Given the description of an element on the screen output the (x, y) to click on. 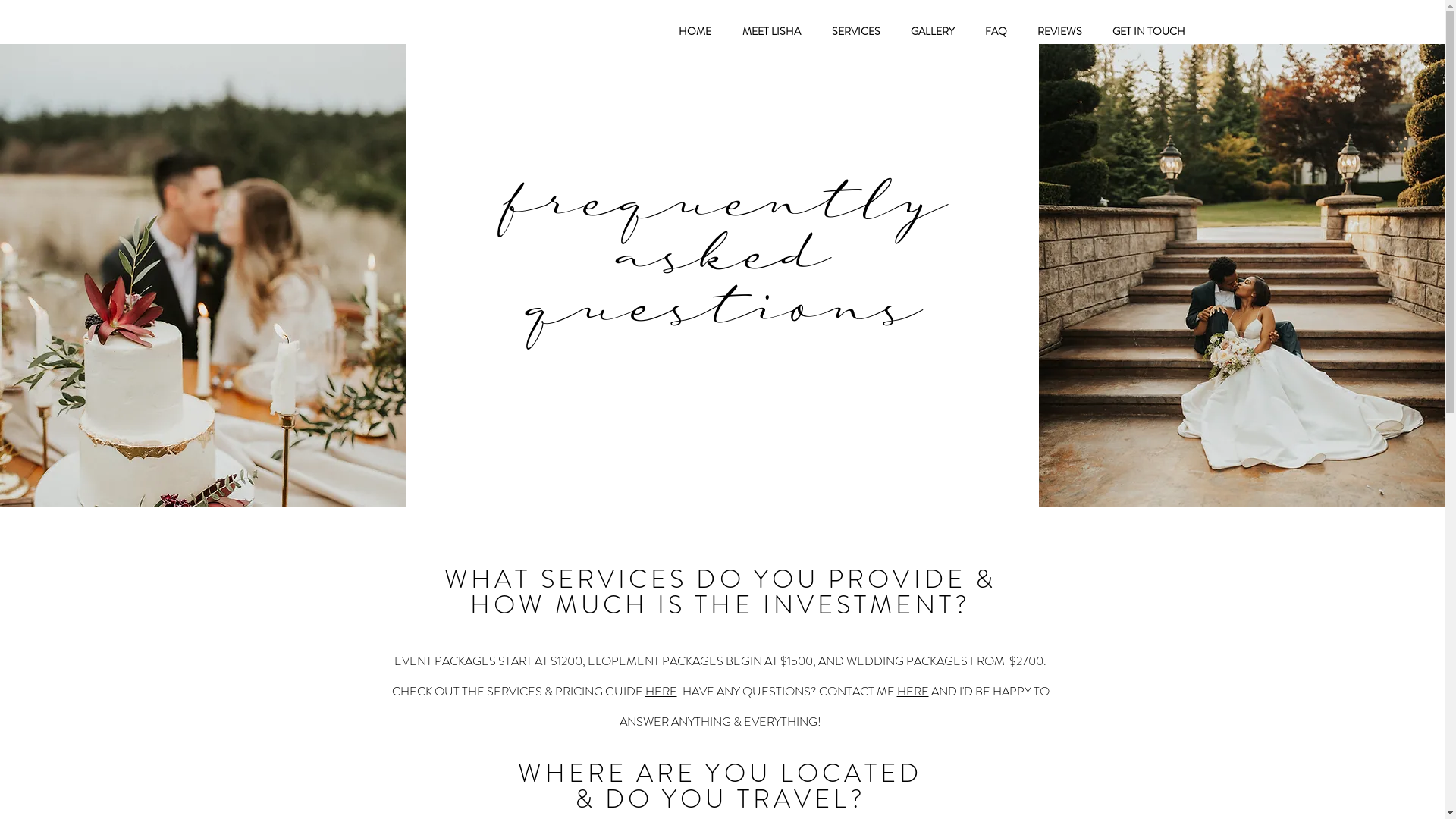
SERVICES Element type: text (854, 31)
HERE Element type: text (912, 690)
GET IN TOUCH Element type: text (1147, 31)
FAQ Element type: text (995, 31)
GALLERY Element type: text (931, 31)
HERE Element type: text (660, 690)
HOME Element type: text (694, 31)
. Element type: text (678, 690)
MEET LISHA Element type: text (770, 31)
REVIEWS Element type: text (1059, 31)
